Given the description of an element on the screen output the (x, y) to click on. 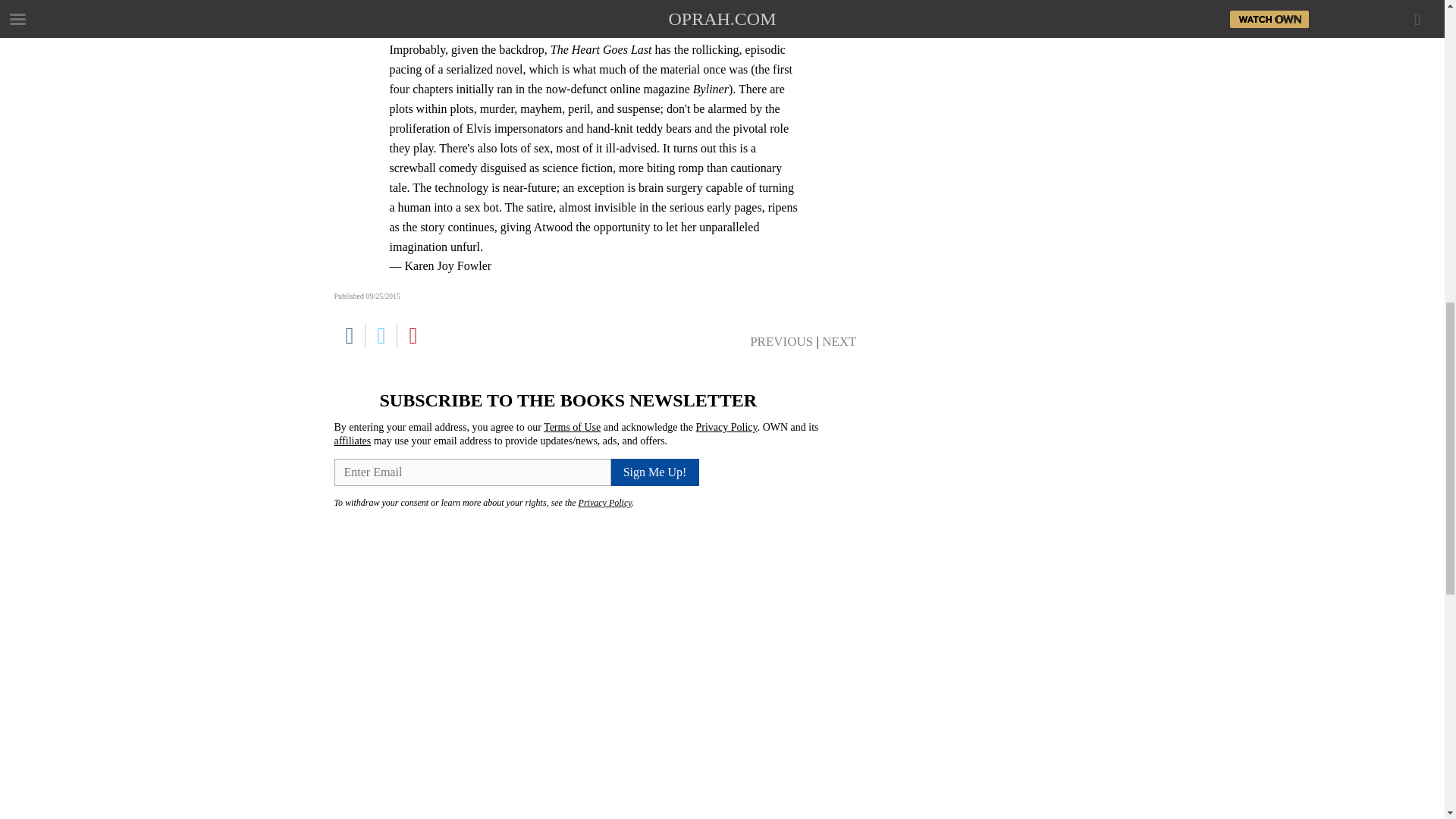
Terms of Use (571, 427)
NEXT (839, 341)
PREVIOUS (780, 341)
Privacy Policy (604, 502)
Privacy Policy (726, 427)
affiliates (352, 440)
